Given the description of an element on the screen output the (x, y) to click on. 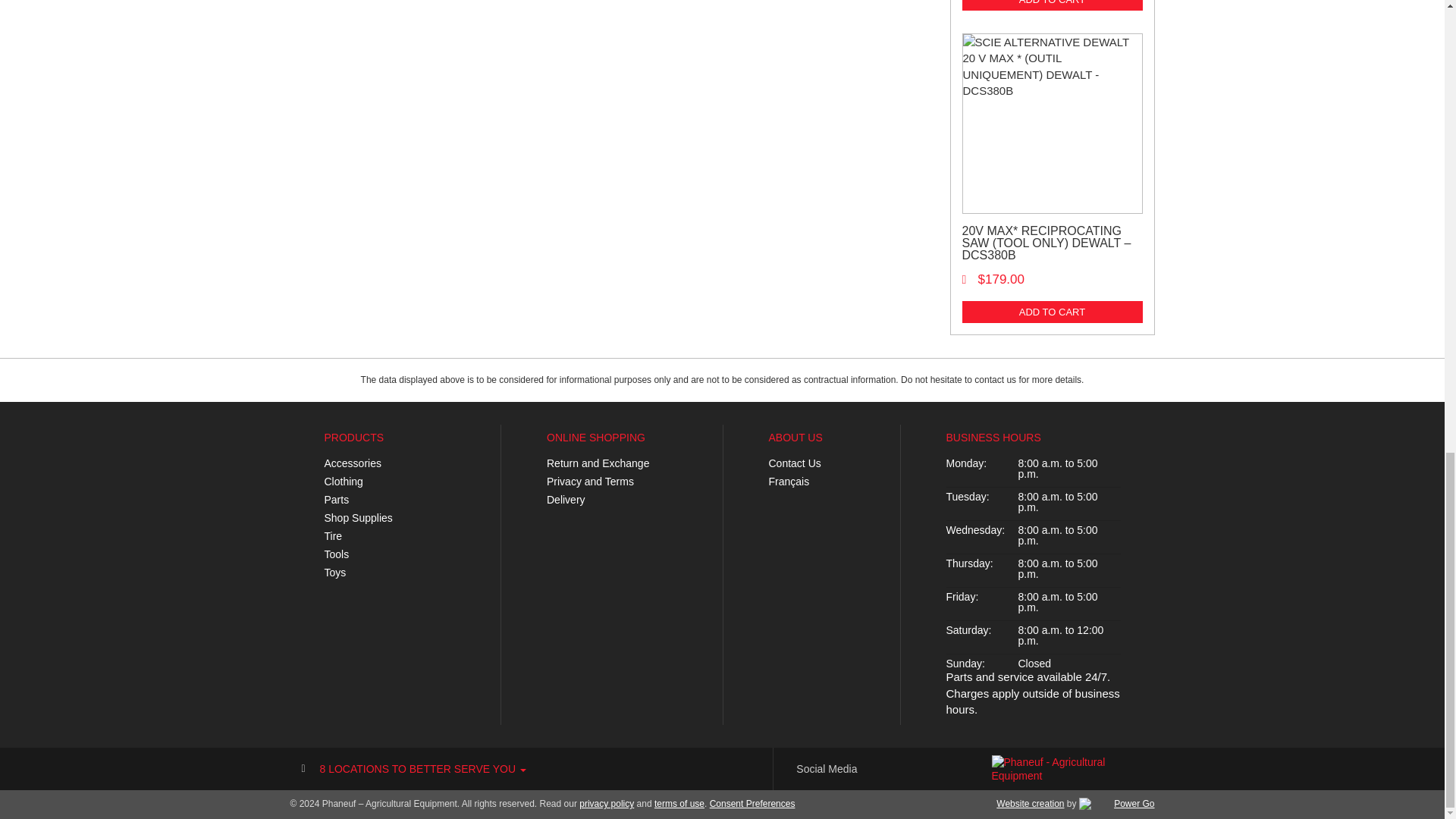
TikTok (939, 768)
Instagram (917, 768)
YouTube (896, 768)
Facebook (875, 768)
